Given the description of an element on the screen output the (x, y) to click on. 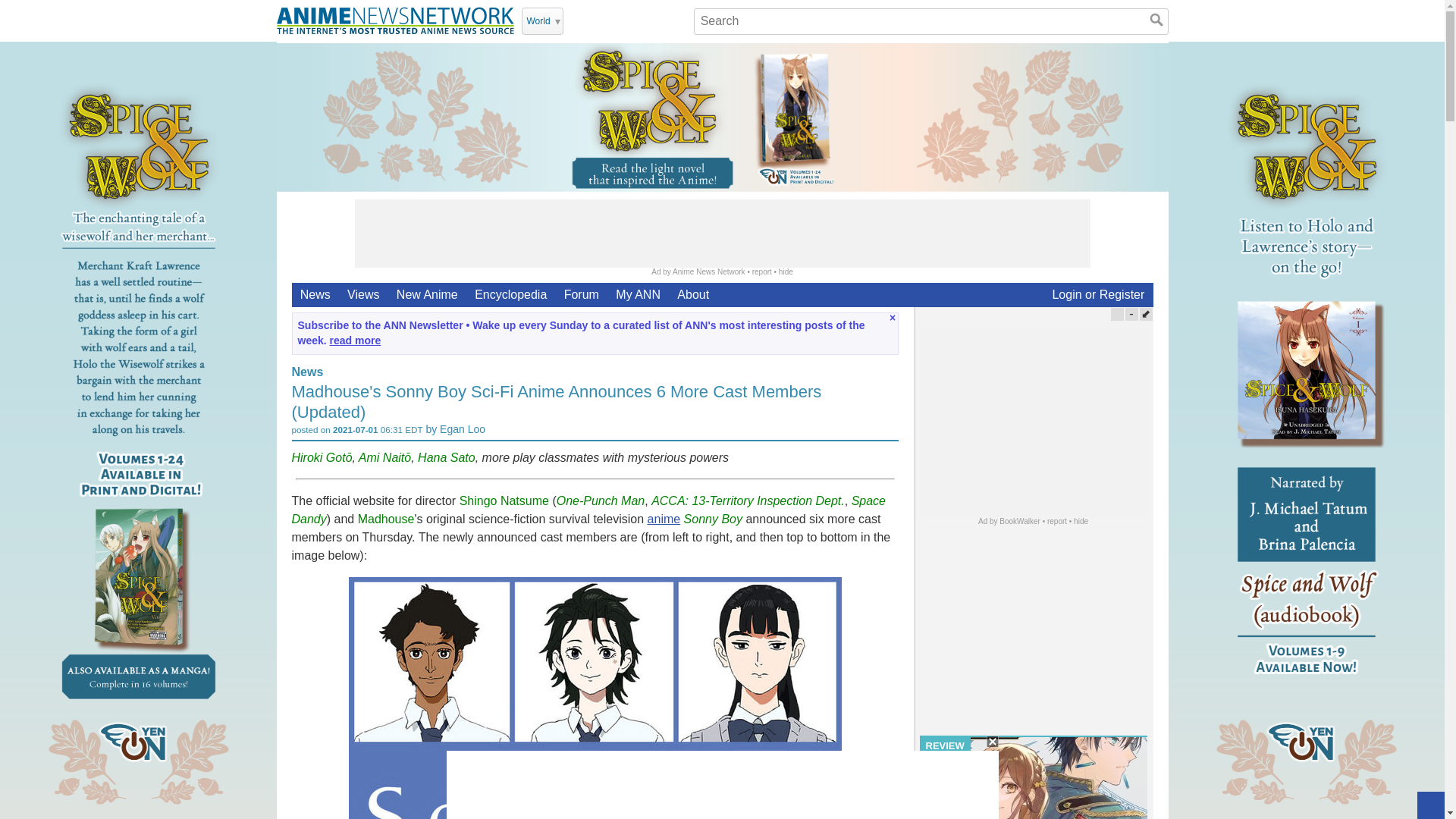
Return to Homepage (394, 20)
Instagram (636, 20)
Twitter (577, 20)
TikTok (656, 20)
Youtube (597, 20)
Choose Your Edition (542, 21)
Facebook (617, 20)
Bluesky (675, 20)
